Given the description of an element on the screen output the (x, y) to click on. 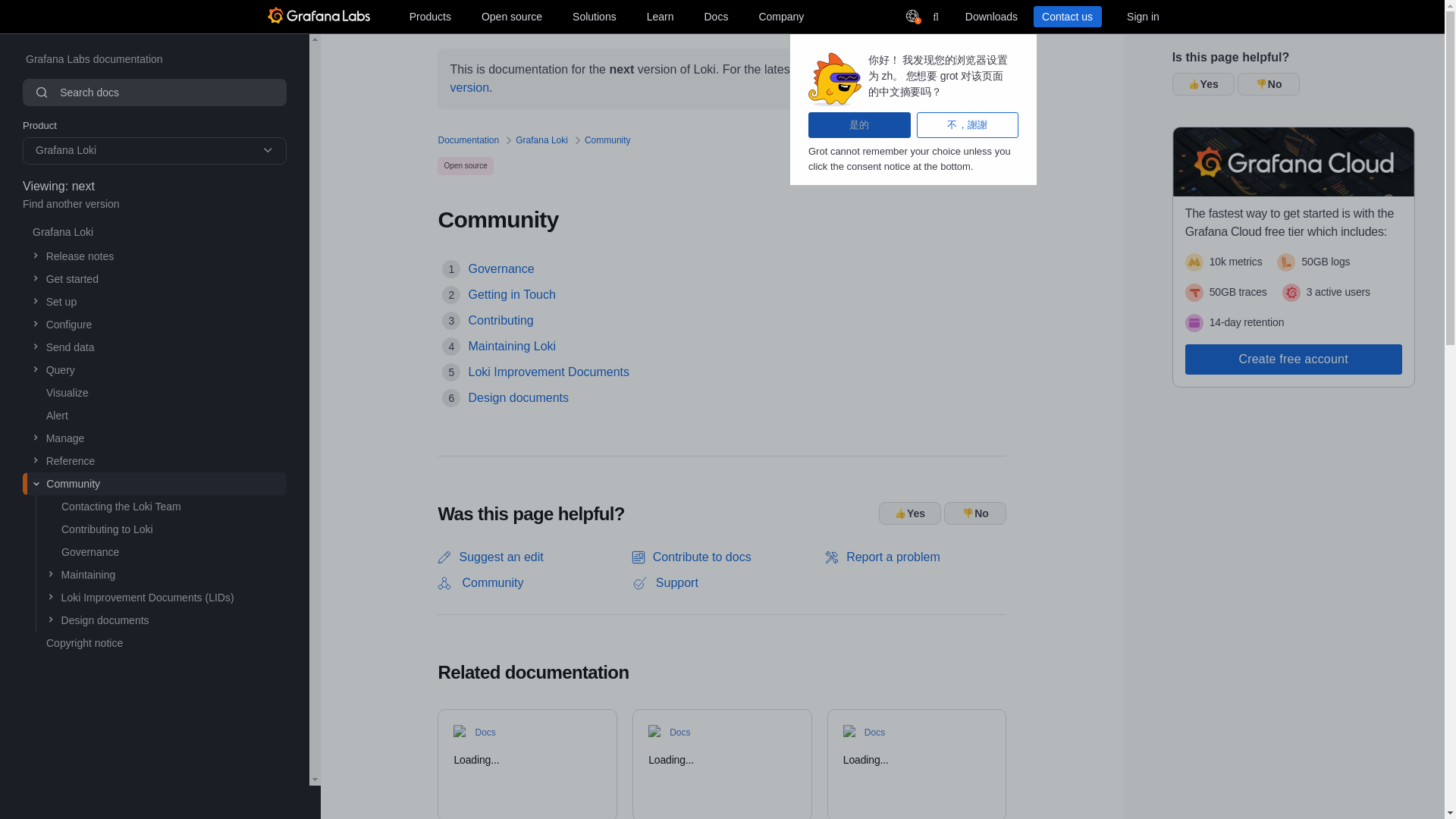
Sign in (1142, 16)
Docs (715, 16)
Company (780, 16)
Contact us (1066, 16)
Open source (512, 16)
Solutions (594, 16)
Products (429, 16)
Learn (660, 16)
Downloads (990, 16)
